Given the description of an element on the screen output the (x, y) to click on. 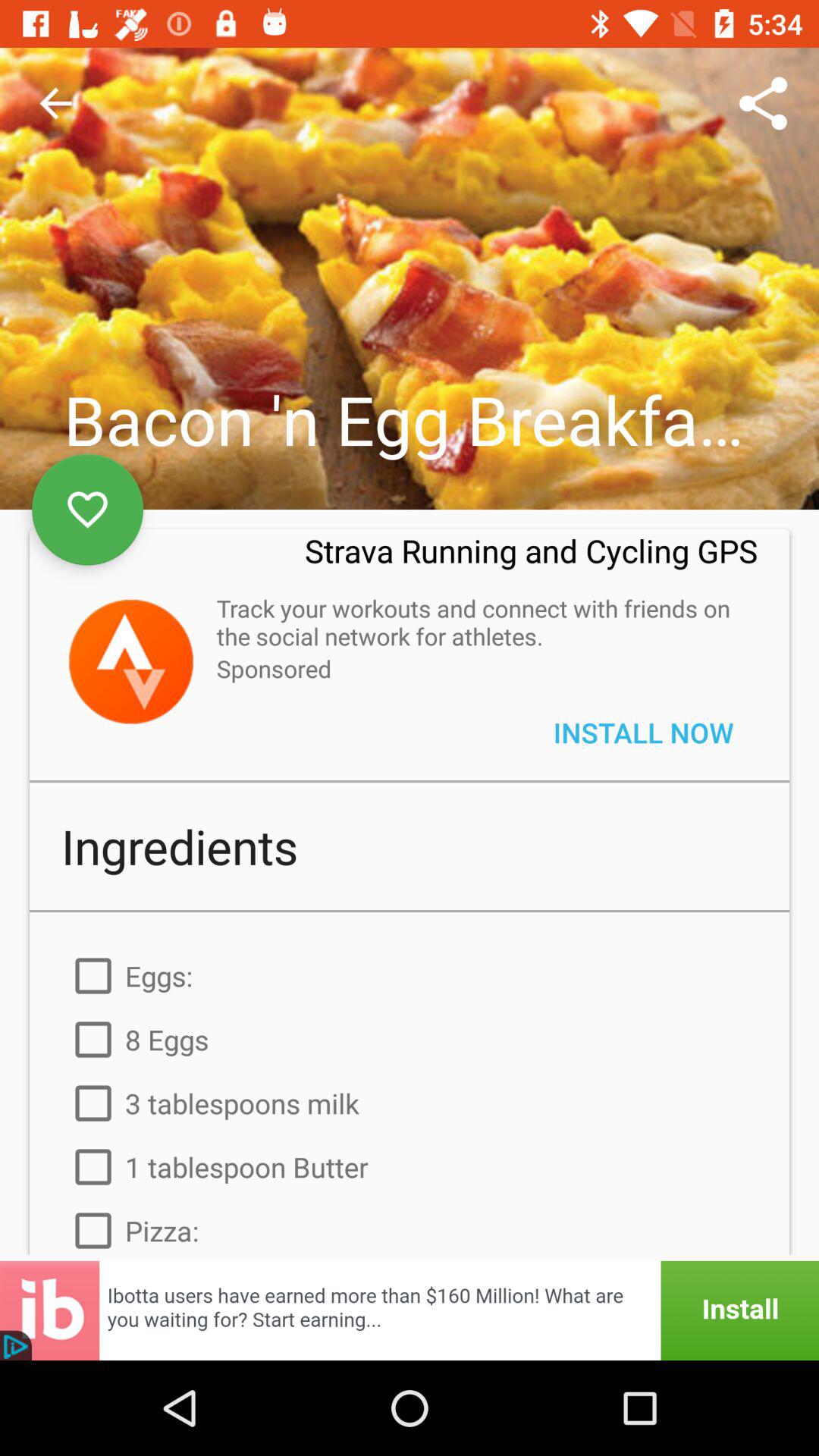
logo design (130, 661)
